Given the description of an element on the screen output the (x, y) to click on. 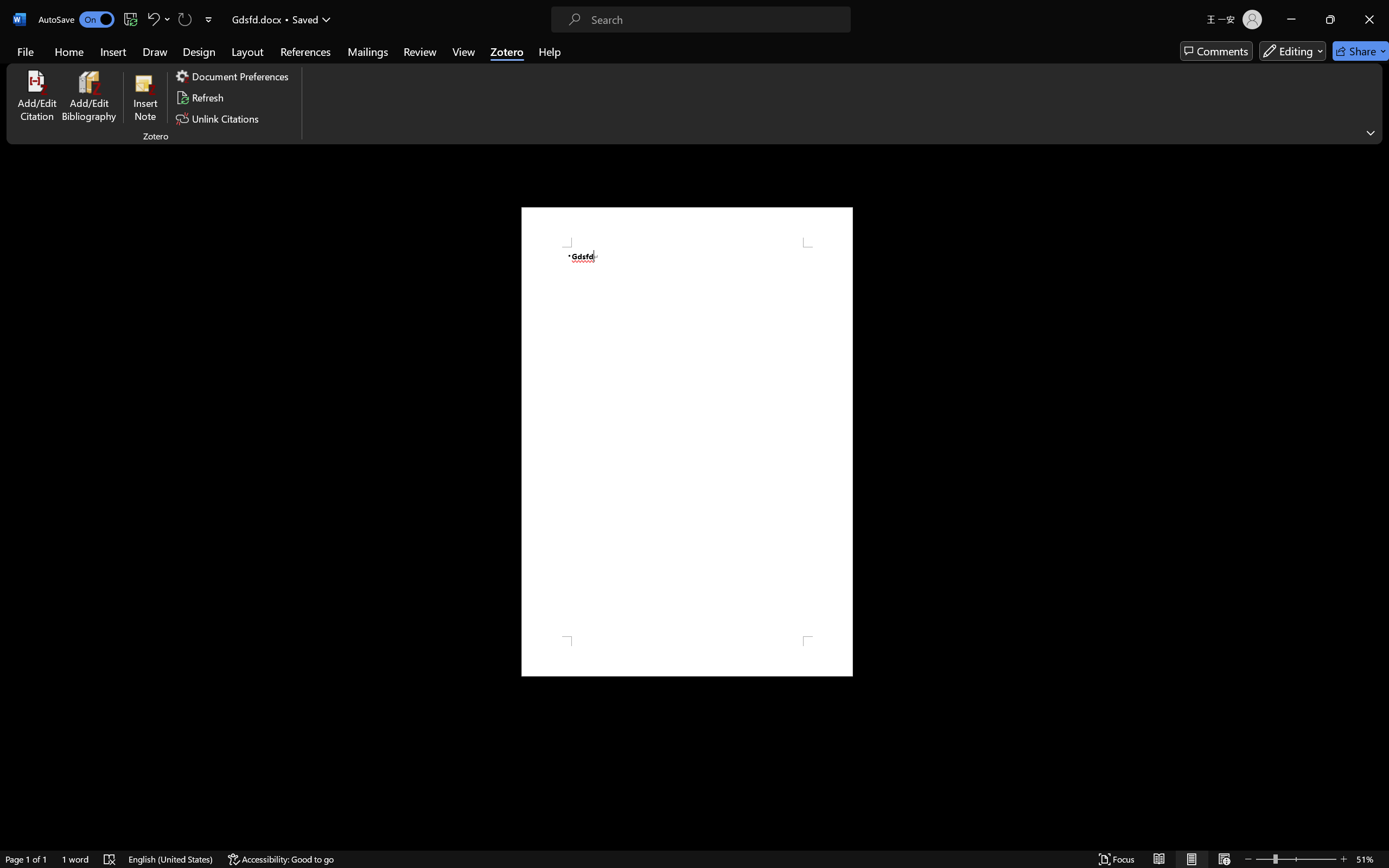
Page 1 content (686, 441)
